Given the description of an element on the screen output the (x, y) to click on. 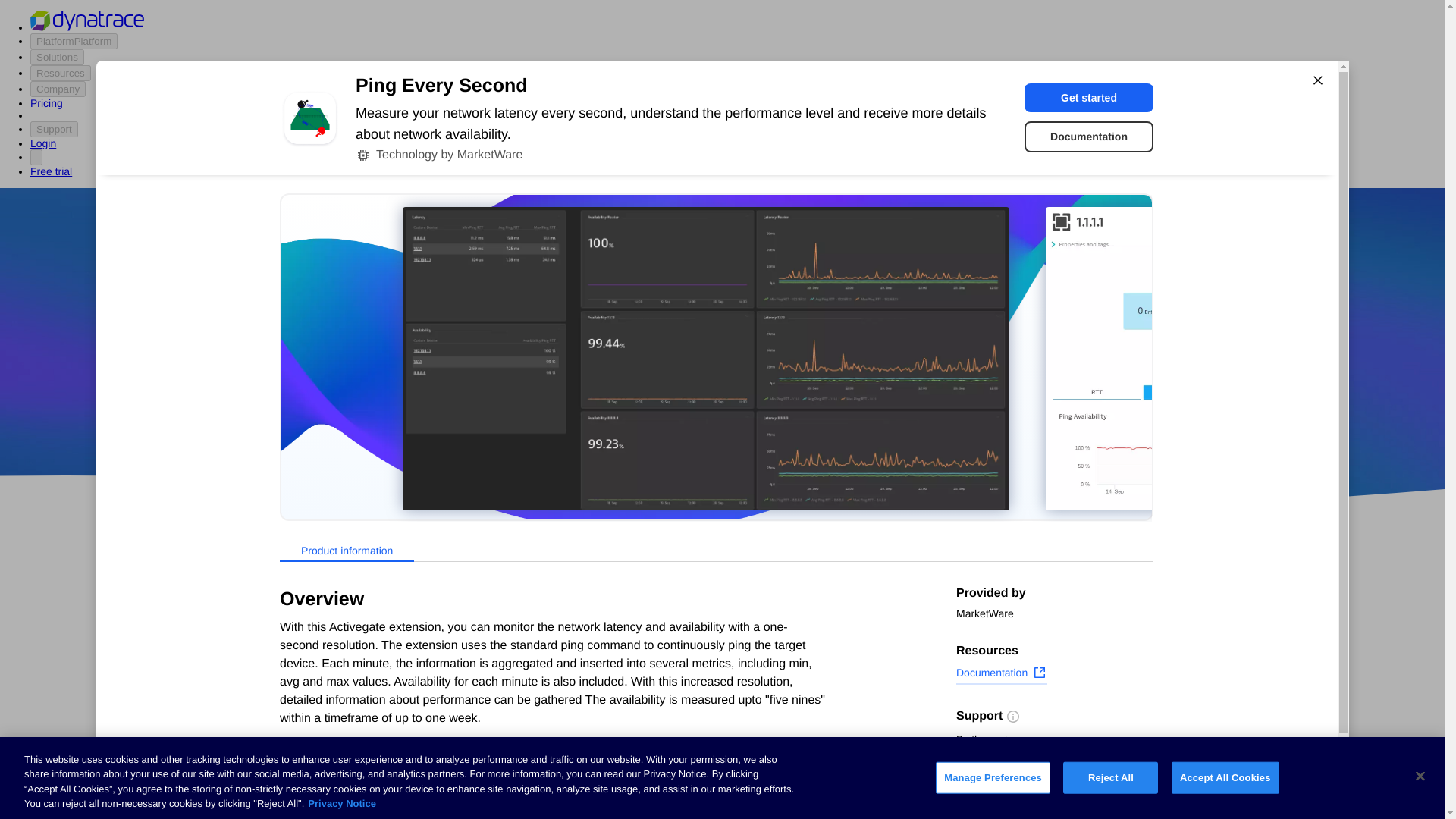
Certified Partners (309, 612)
Build your own app (314, 669)
Log Management and Analytics (345, 727)
Open source (903, 418)
Documentation (1089, 136)
Advanced SSL Certificate Check for Dynatrace (606, 722)
Azure (681, 418)
Get started (1089, 97)
Kubernetes (295, 755)
Documentation (1001, 674)
